Given the description of an element on the screen output the (x, y) to click on. 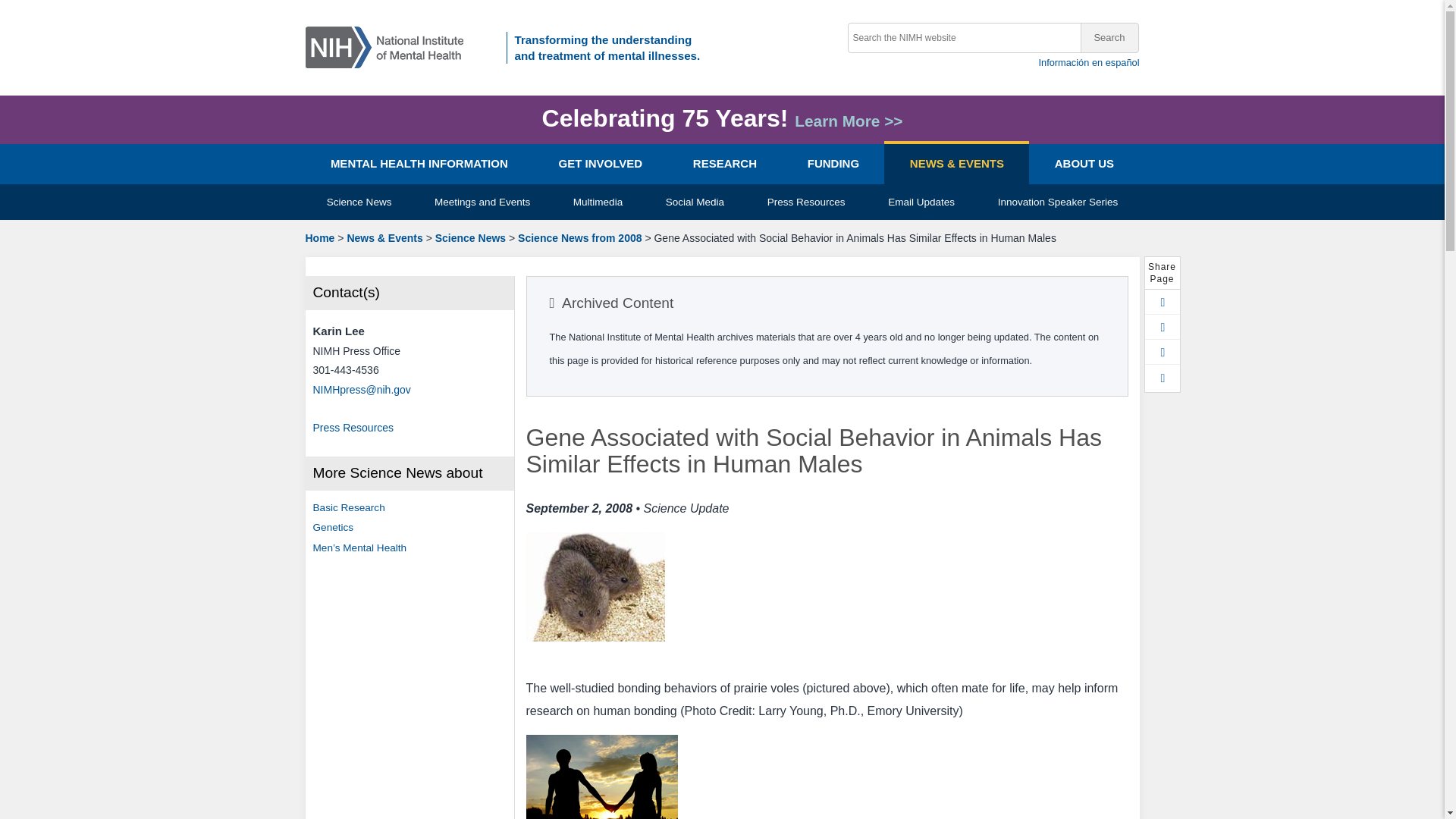
FUNDING (832, 164)
ABOUT US (1083, 164)
NIMH Home (389, 46)
GET INVOLVED (599, 164)
Search (1109, 37)
Search (1109, 37)
MENTAL HEALTH INFORMATION (418, 164)
RESEARCH (723, 164)
National Institute of Mental Health (326, 350)
